Given the description of an element on the screen output the (x, y) to click on. 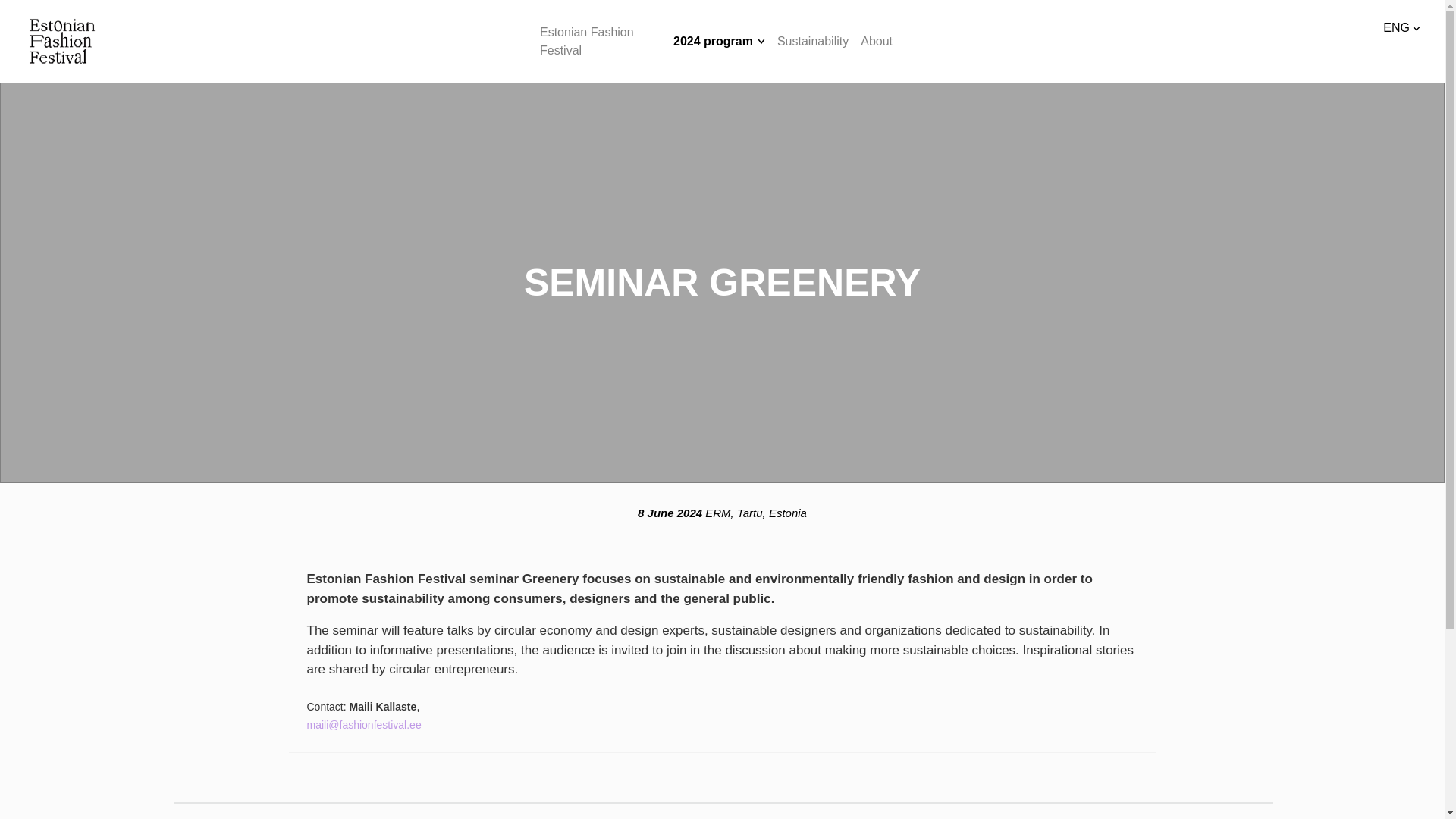
ENG (1402, 28)
Sustainability (812, 41)
2024 program (712, 41)
About (876, 41)
Estonian Fashion Festival (600, 41)
